Given the description of an element on the screen output the (x, y) to click on. 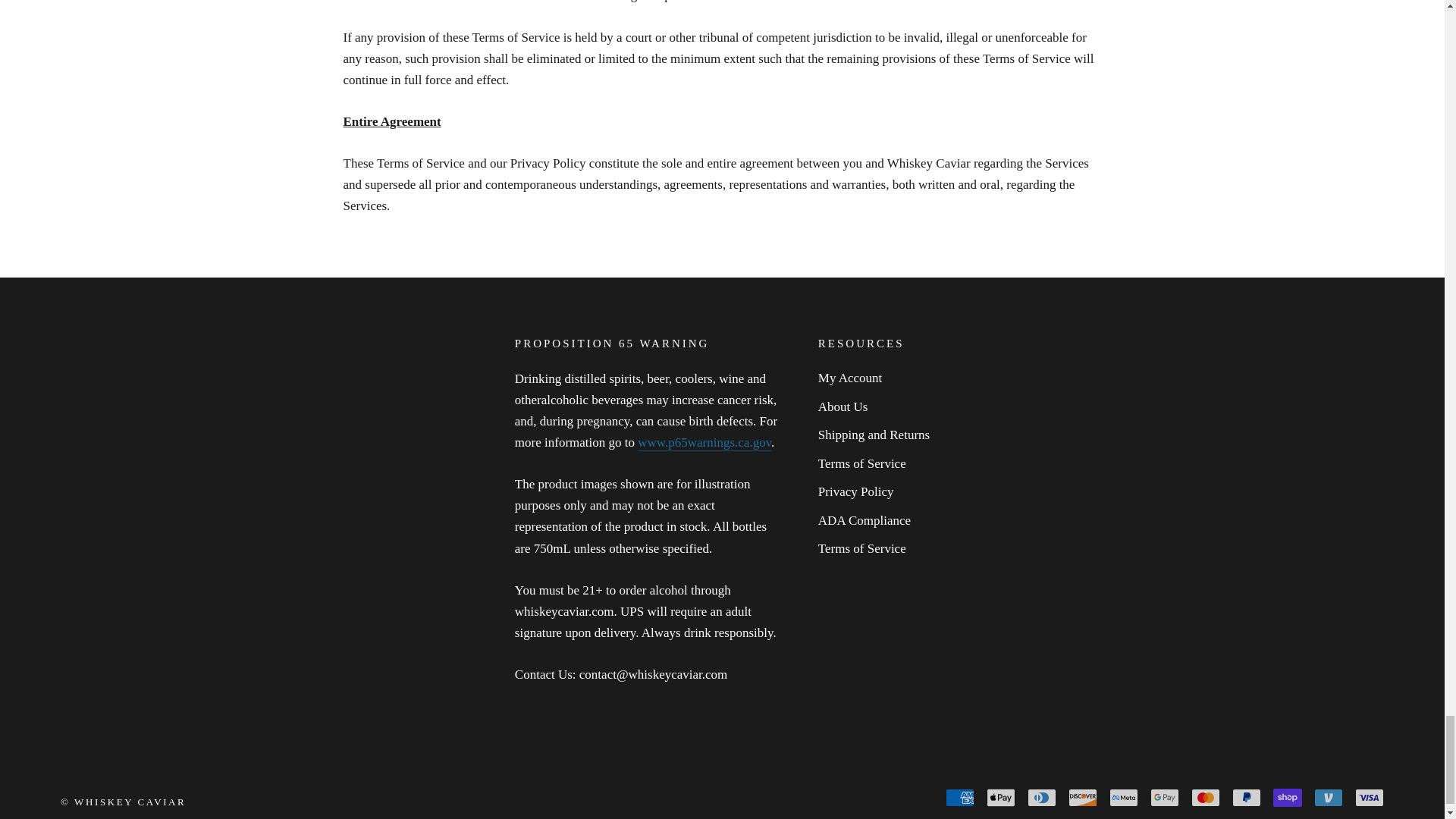
Shop Pay (1286, 797)
Apple Pay (1000, 797)
Meta Pay (1123, 797)
Visa (1369, 797)
Google Pay (1164, 797)
Mastercard (1205, 797)
Diners Club (1042, 797)
Discover (1082, 797)
American Express (959, 797)
PayPal (1245, 797)
